Given the description of an element on the screen output the (x, y) to click on. 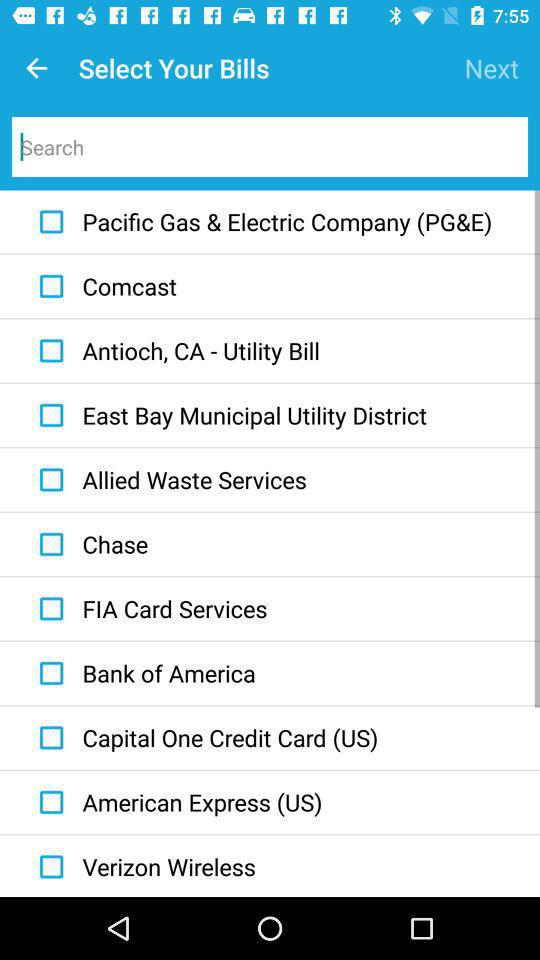
tap the pacific gas electric item (261, 221)
